Given the description of an element on the screen output the (x, y) to click on. 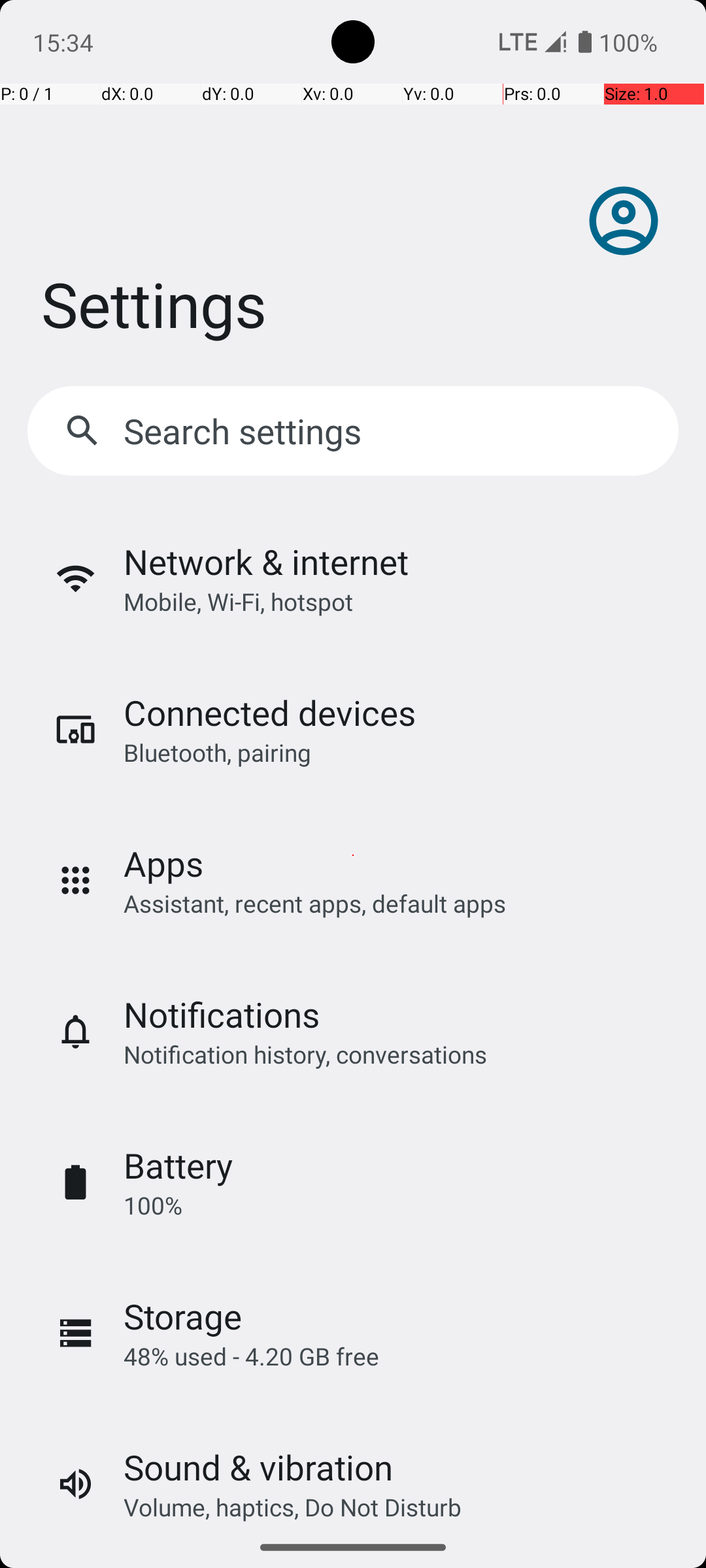
48% used - 4.20 GB free Element type: android.widget.TextView (251, 1355)
